Given the description of an element on the screen output the (x, y) to click on. 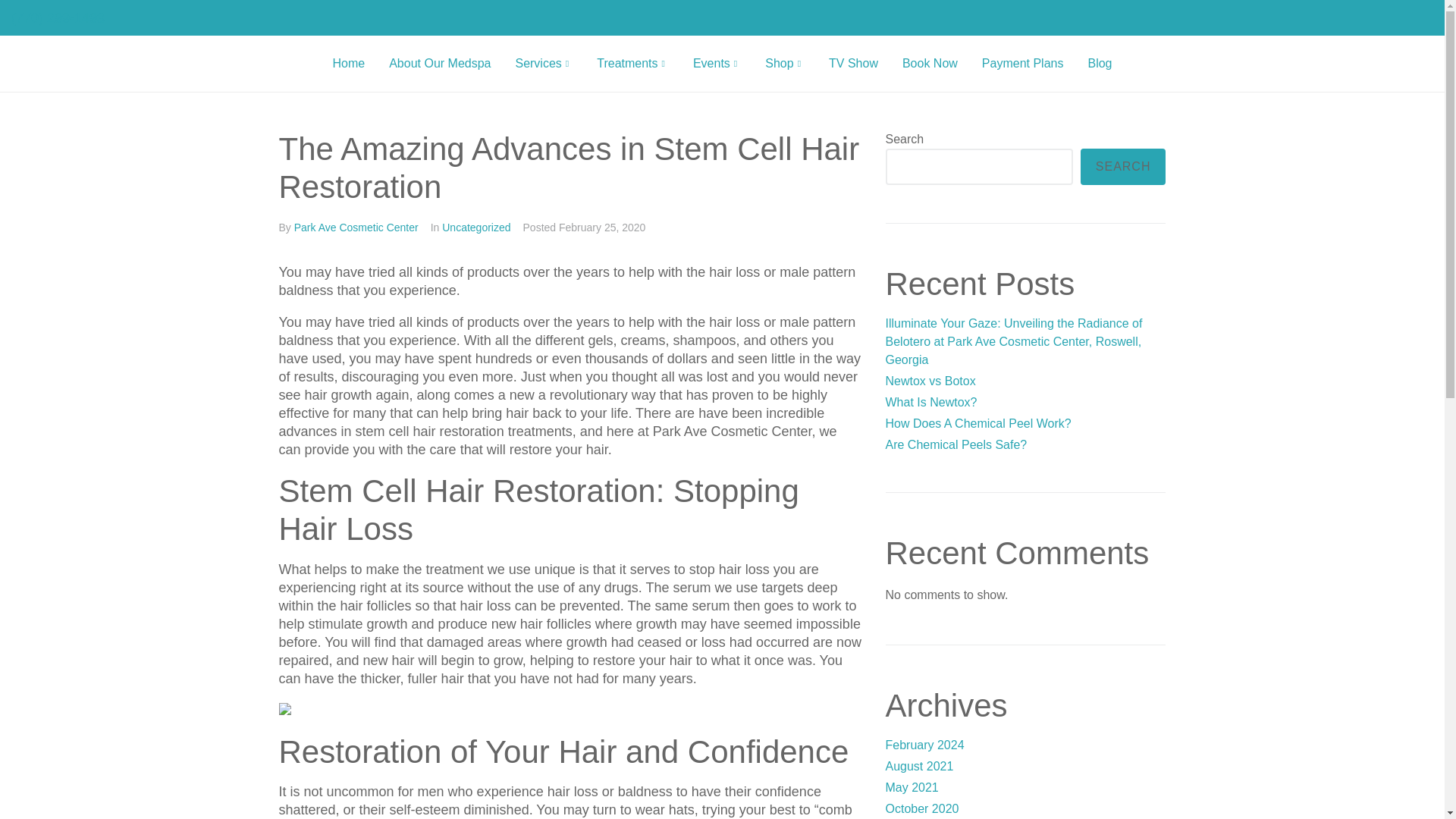
Home (348, 63)
About Our Medspa (439, 63)
Services (543, 63)
